Given the description of an element on the screen output the (x, y) to click on. 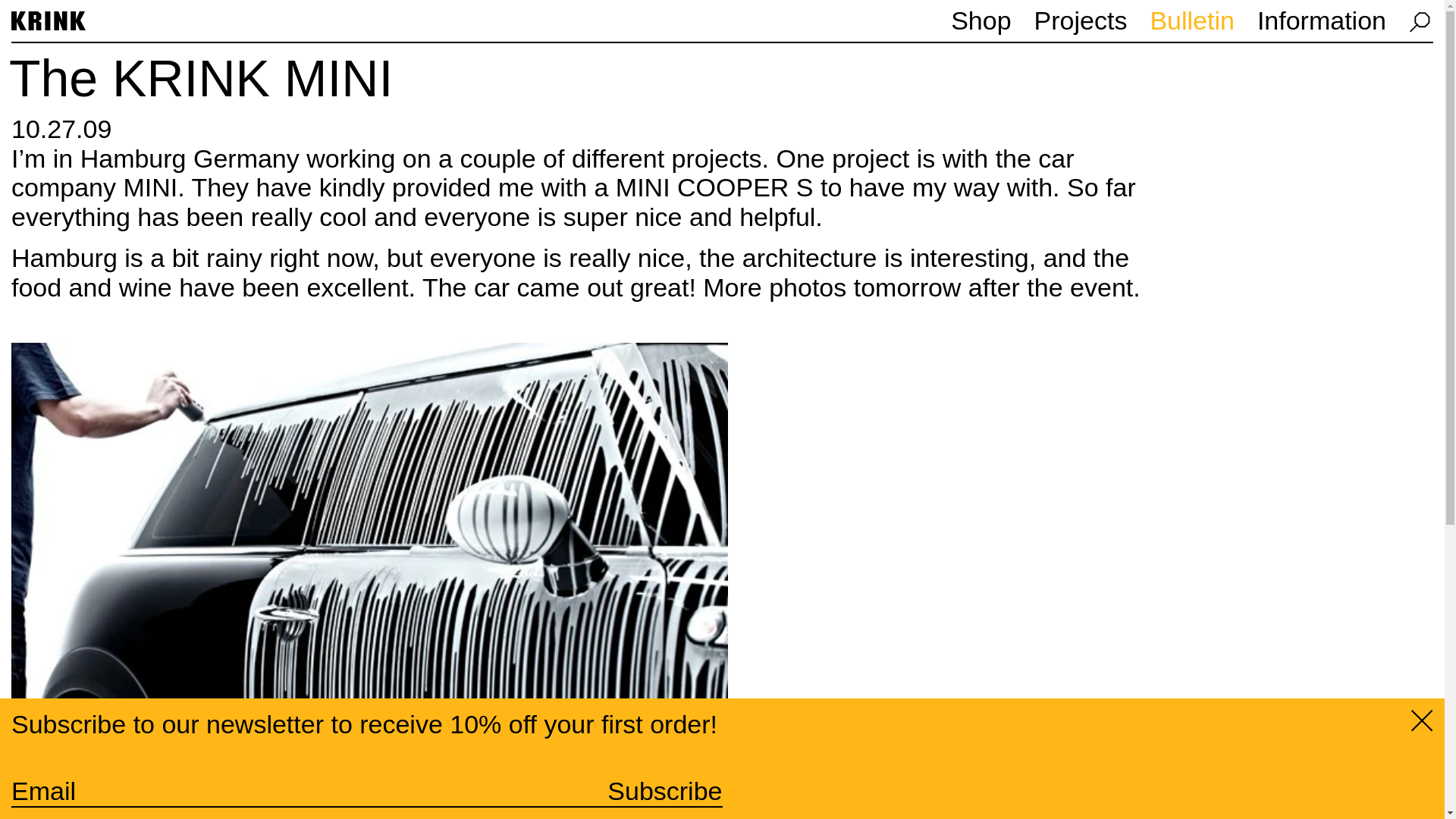
Projects (1079, 20)
Bulletin (1192, 20)
Subscribe (664, 790)
Information (1321, 20)
Subscribe (664, 790)
Shop (980, 20)
